Given the description of an element on the screen output the (x, y) to click on. 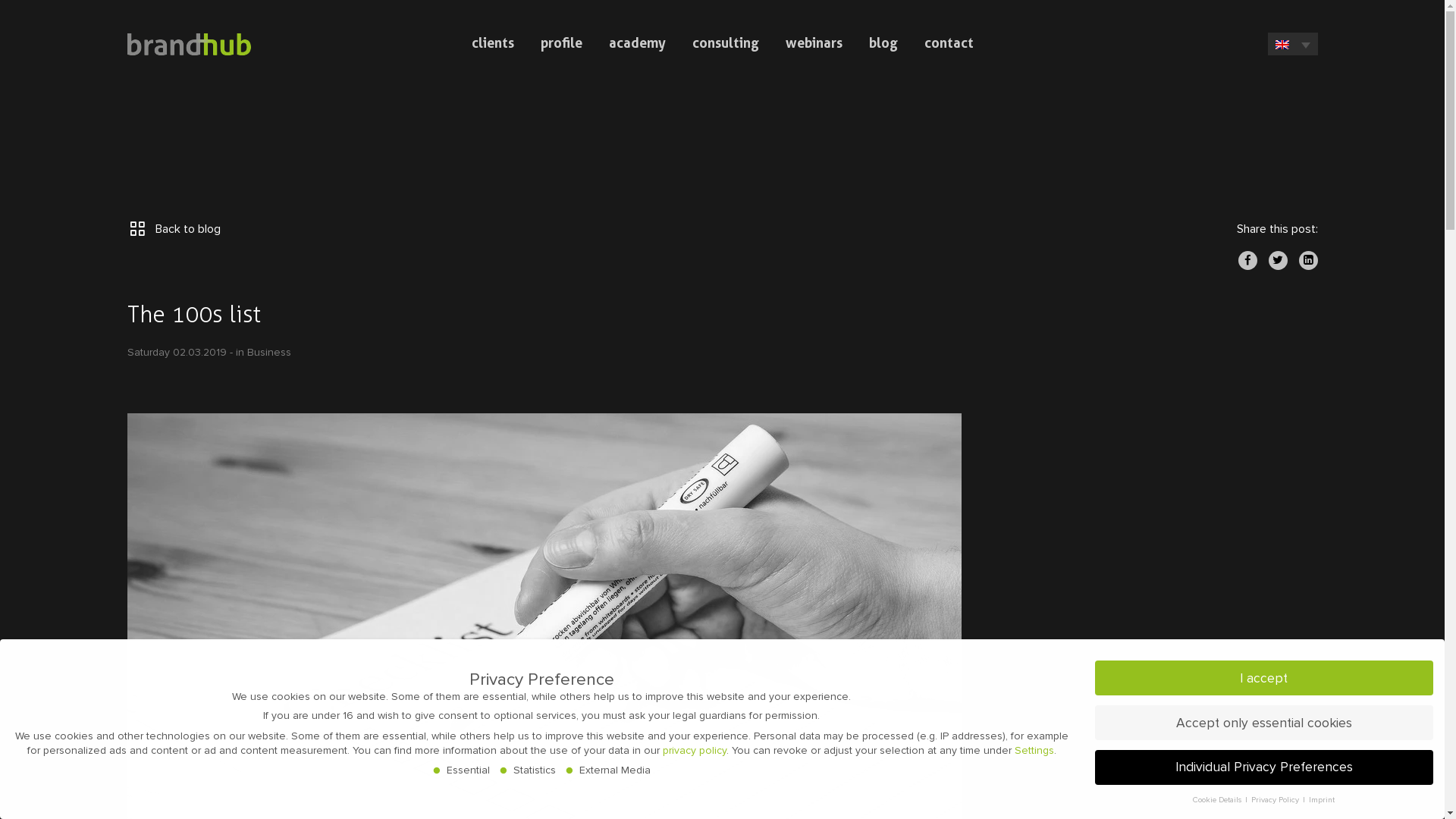
blog Element type: text (883, 42)
Accept only essential cookies Element type: text (1264, 722)
academy Element type: text (636, 42)
contact Element type: text (947, 42)
Back to blog Element type: text (173, 228)
Individual Privacy Preferences Element type: text (1264, 766)
Settings Element type: text (1034, 749)
consulting Element type: text (724, 42)
Business Element type: text (269, 351)
webinars Element type: text (813, 42)
privacy policy Element type: text (694, 749)
Imprint Element type: text (1321, 799)
Privacy Policy Element type: text (1276, 799)
profile Element type: text (560, 42)
I accept Element type: text (1264, 677)
Cookie Details Element type: text (1217, 799)
clients Element type: text (492, 42)
